Given the description of an element on the screen output the (x, y) to click on. 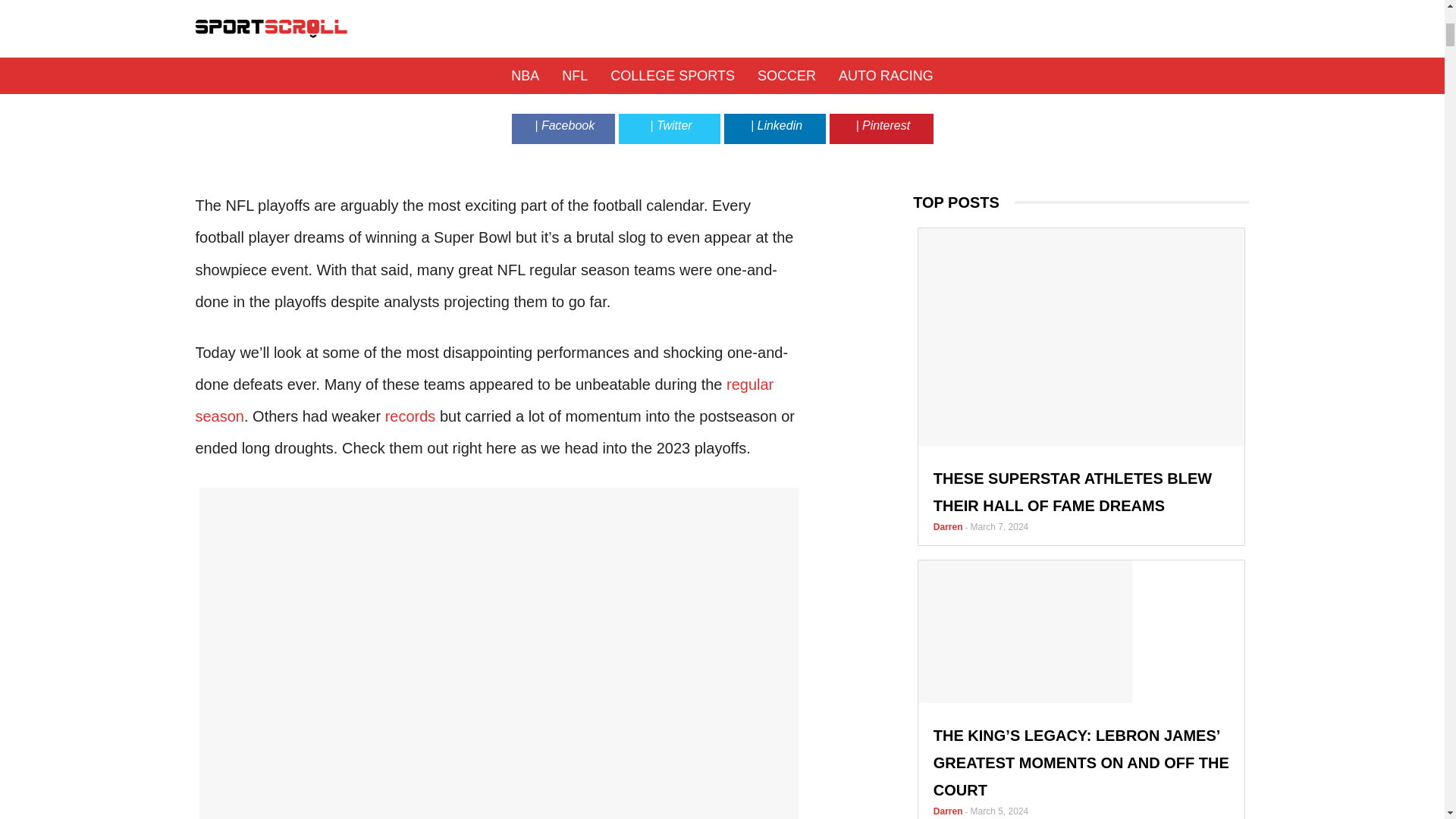
Darren (668, 73)
regular season (484, 400)
records (410, 416)
